Given the description of an element on the screen output the (x, y) to click on. 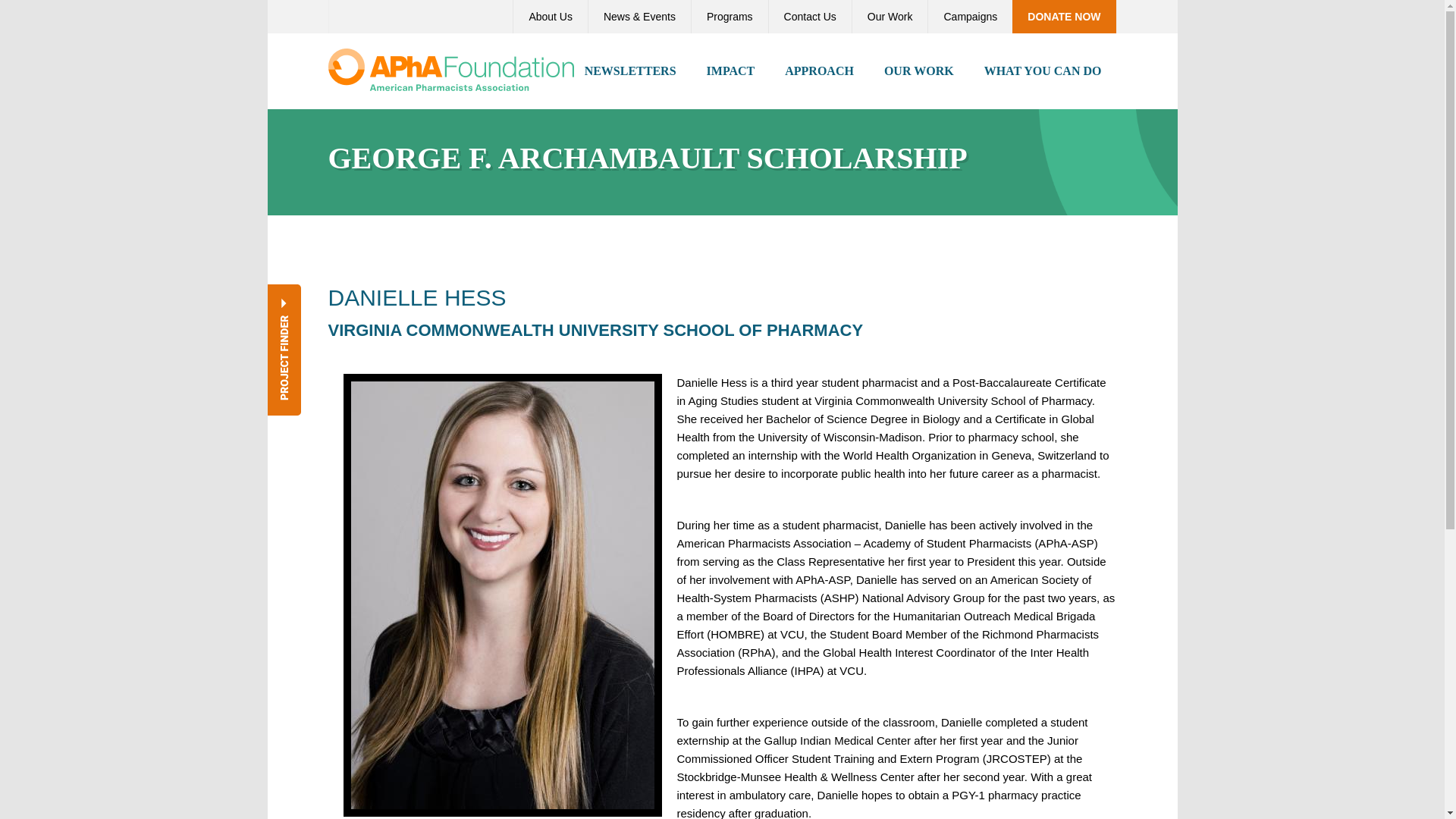
Our Work (889, 16)
What You Can Do (1042, 71)
DONATE NOW (1063, 16)
Programs (729, 16)
NEWSLETTERS (630, 71)
APPROACH (819, 71)
Contact Us (809, 16)
Campaigns (969, 16)
WHAT YOU CAN DO (1042, 71)
Approach (819, 71)
Donate Now (1063, 16)
Newsletters (630, 71)
OUR WORK (919, 71)
About Us (550, 16)
IMPACT (730, 71)
